Given the description of an element on the screen output the (x, y) to click on. 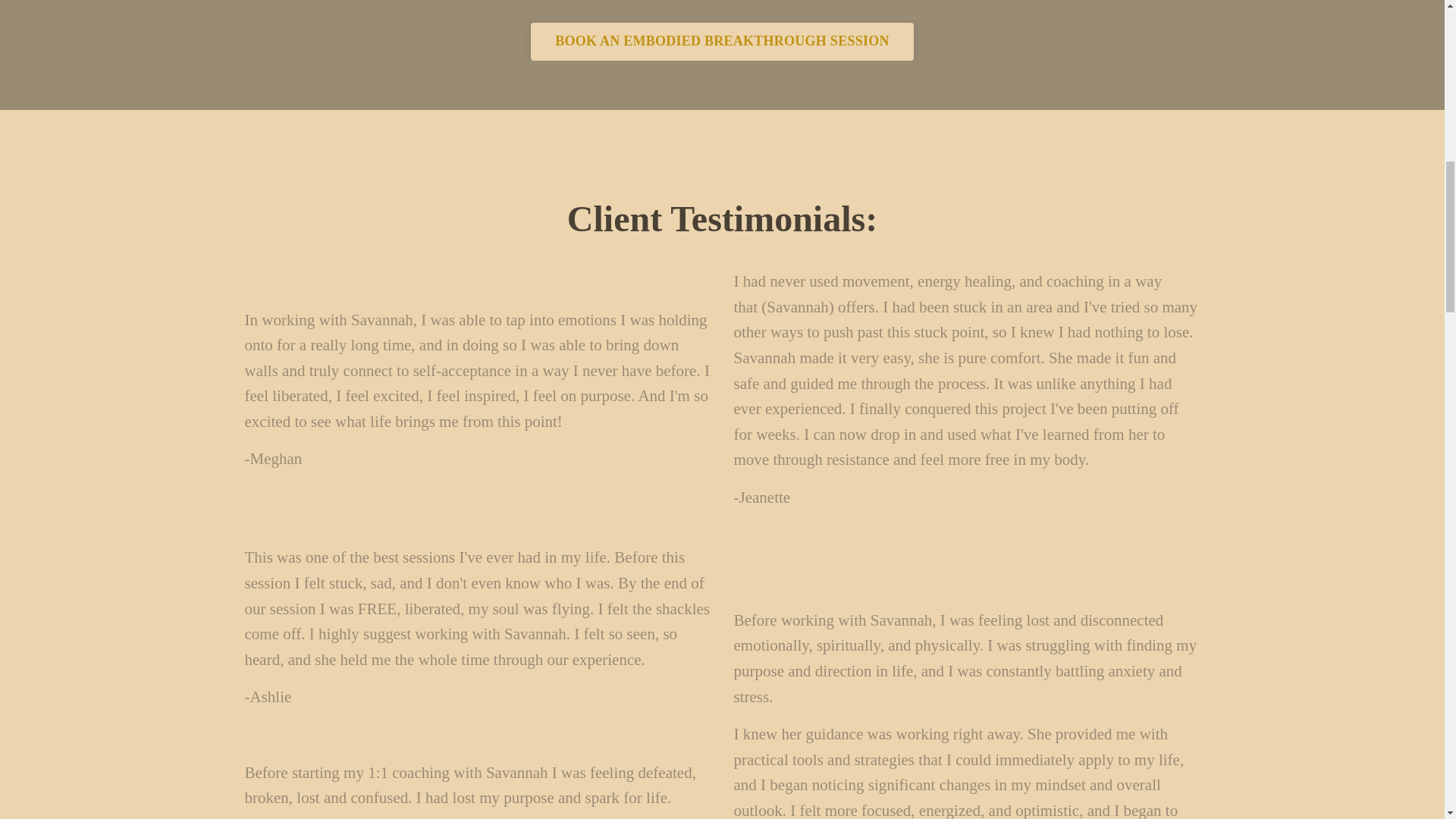
BOOK AN EMBODIED BREAKTHROUGH SESSION (721, 41)
